Given the description of an element on the screen output the (x, y) to click on. 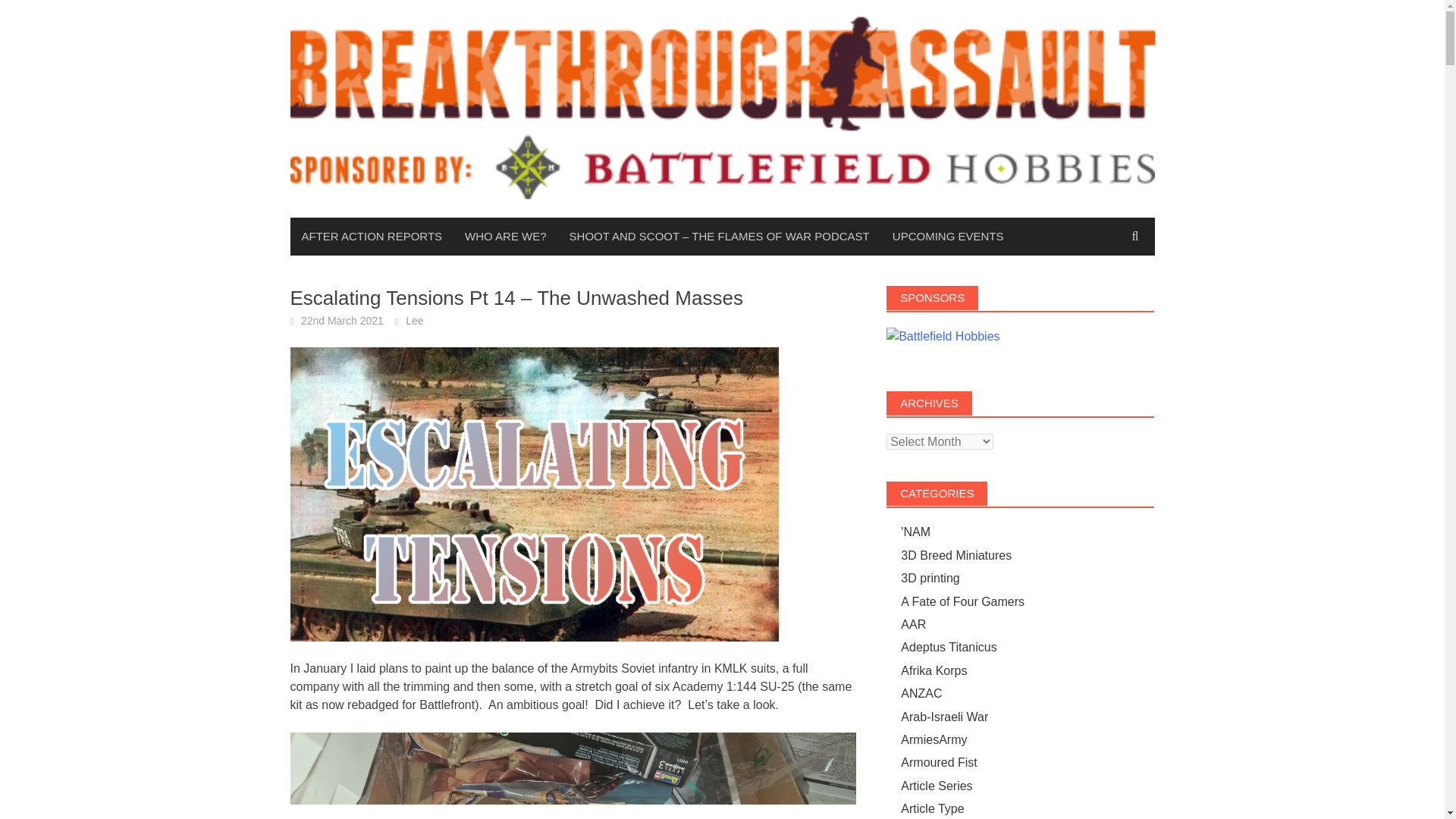
A Fate of Four Gamers (963, 601)
'NAM (915, 531)
UPCOMING EVENTS (947, 236)
WHO ARE WE? (504, 236)
3D Breed Miniatures (956, 554)
Lee (414, 320)
22nd March 2021 (342, 320)
3D printing (930, 577)
AFTER ACTION REPORTS (370, 236)
